Given the description of an element on the screen output the (x, y) to click on. 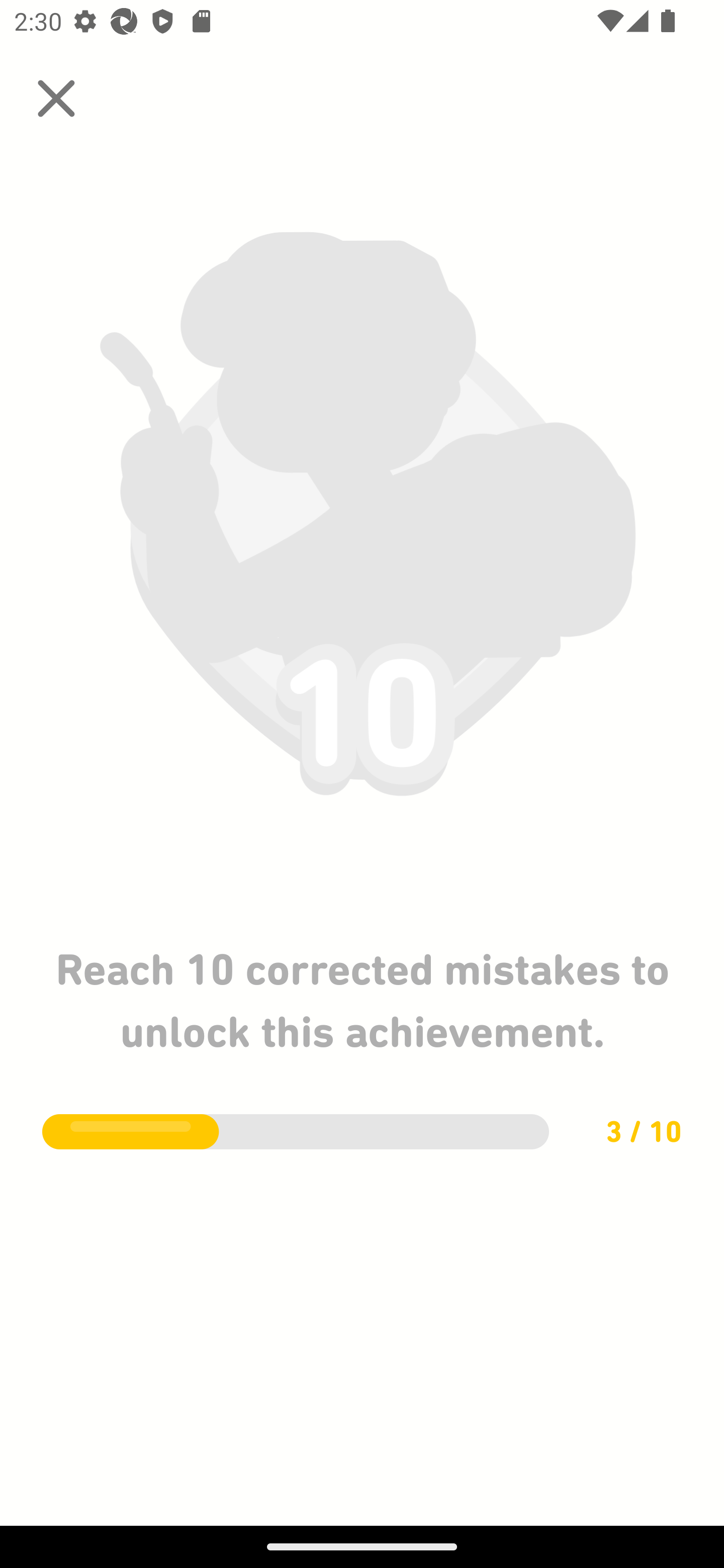
Back (56, 98)
